Given the description of an element on the screen output the (x, y) to click on. 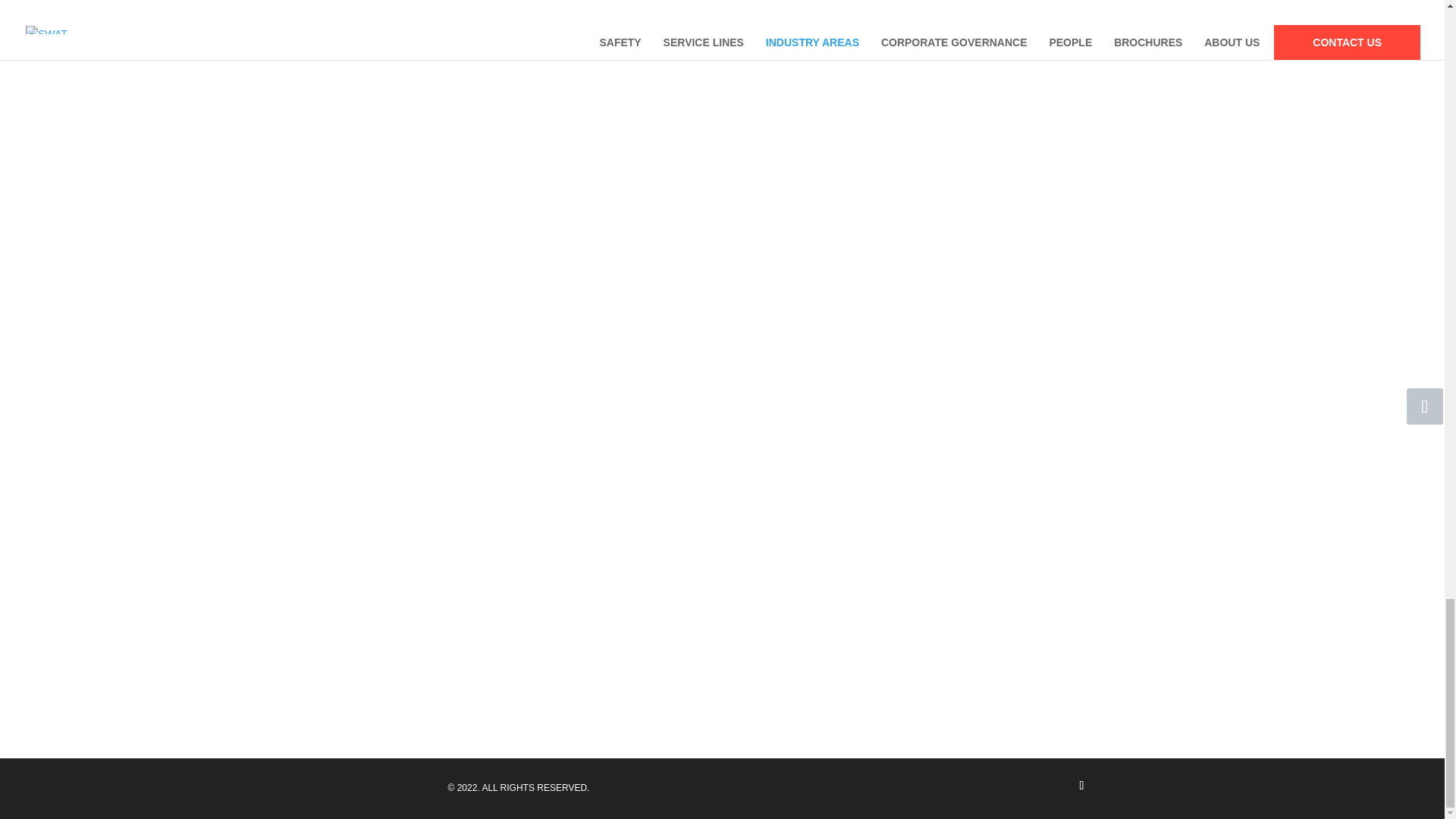
Follow on LinkedIn (1080, 785)
